Given the description of an element on the screen output the (x, y) to click on. 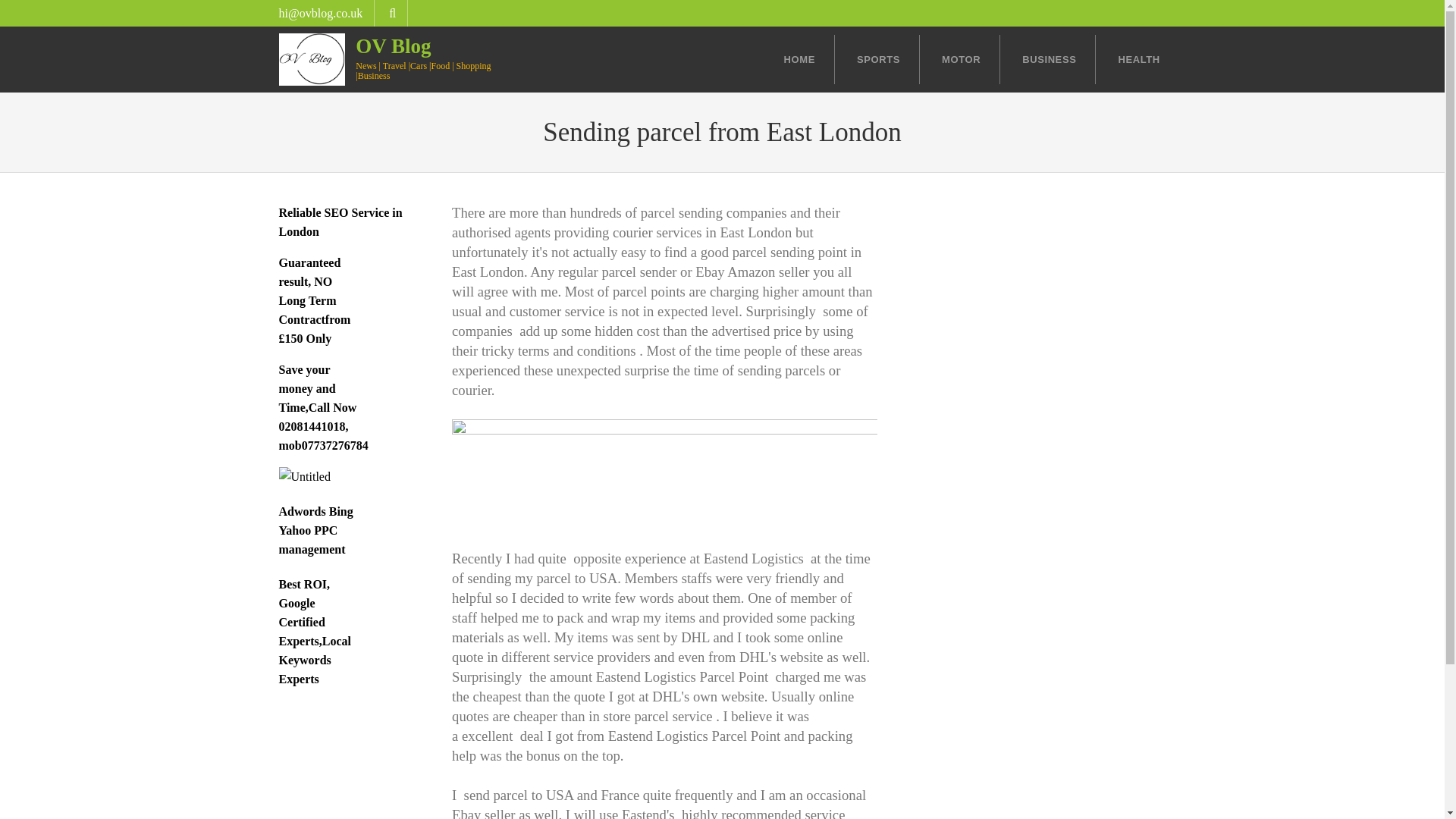
Reliable SEO Service in London (341, 222)
HOME (799, 59)
BUSINESS (1049, 59)
HEALTH (1128, 59)
Adwords Bing Yahoo PPC management (316, 530)
MOTOR (961, 59)
SPORTS (879, 59)
